Given the description of an element on the screen output the (x, y) to click on. 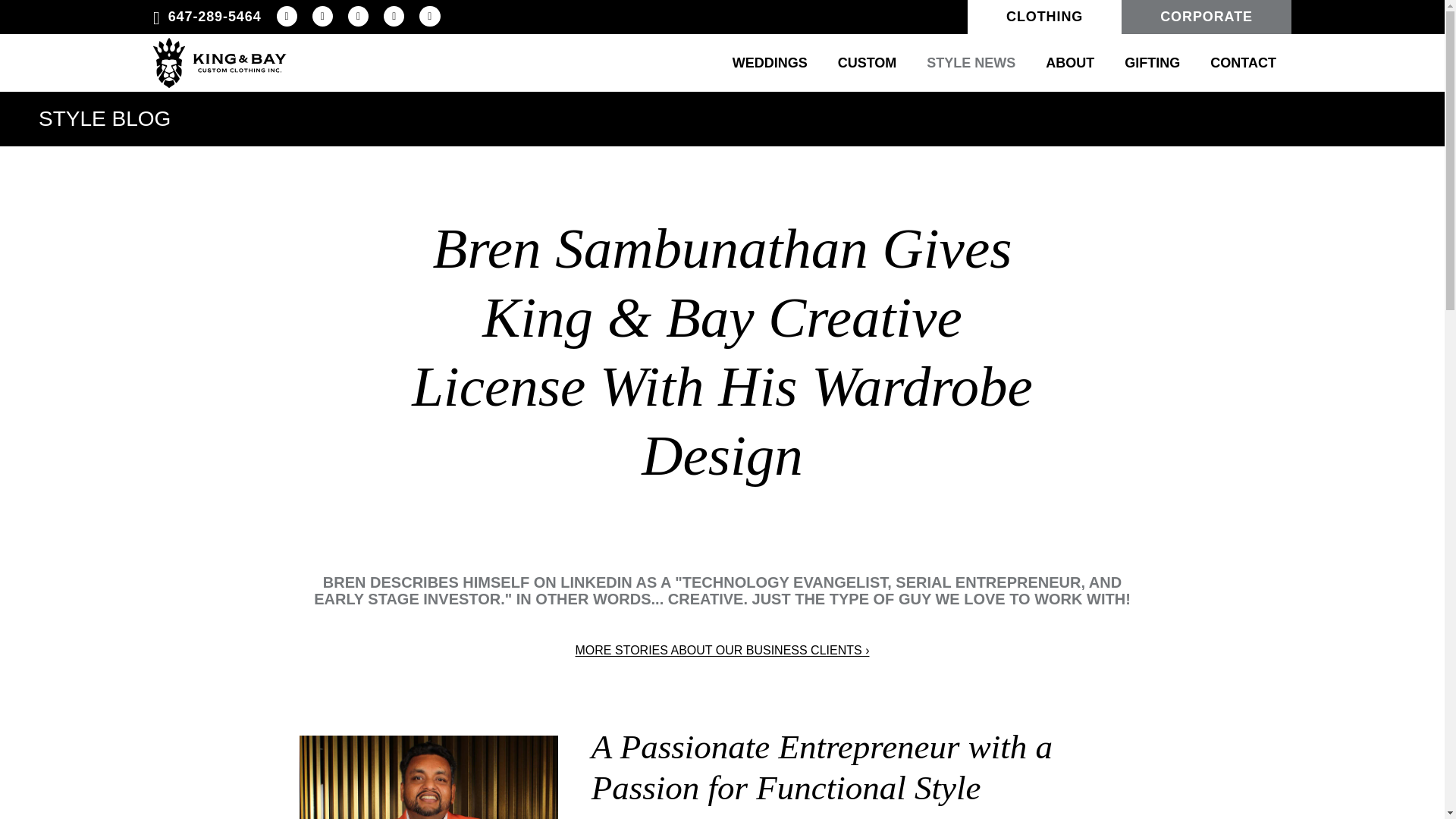
Facebook (286, 15)
Pinterest (429, 15)
CUSTOM (867, 62)
CLOTHING (1044, 17)
WEDDINGS (769, 62)
Pinterest (429, 15)
647-289-5464 (207, 16)
YouTube (357, 15)
LinkedIn (394, 15)
LinkedIn (394, 15)
